Given the description of an element on the screen output the (x, y) to click on. 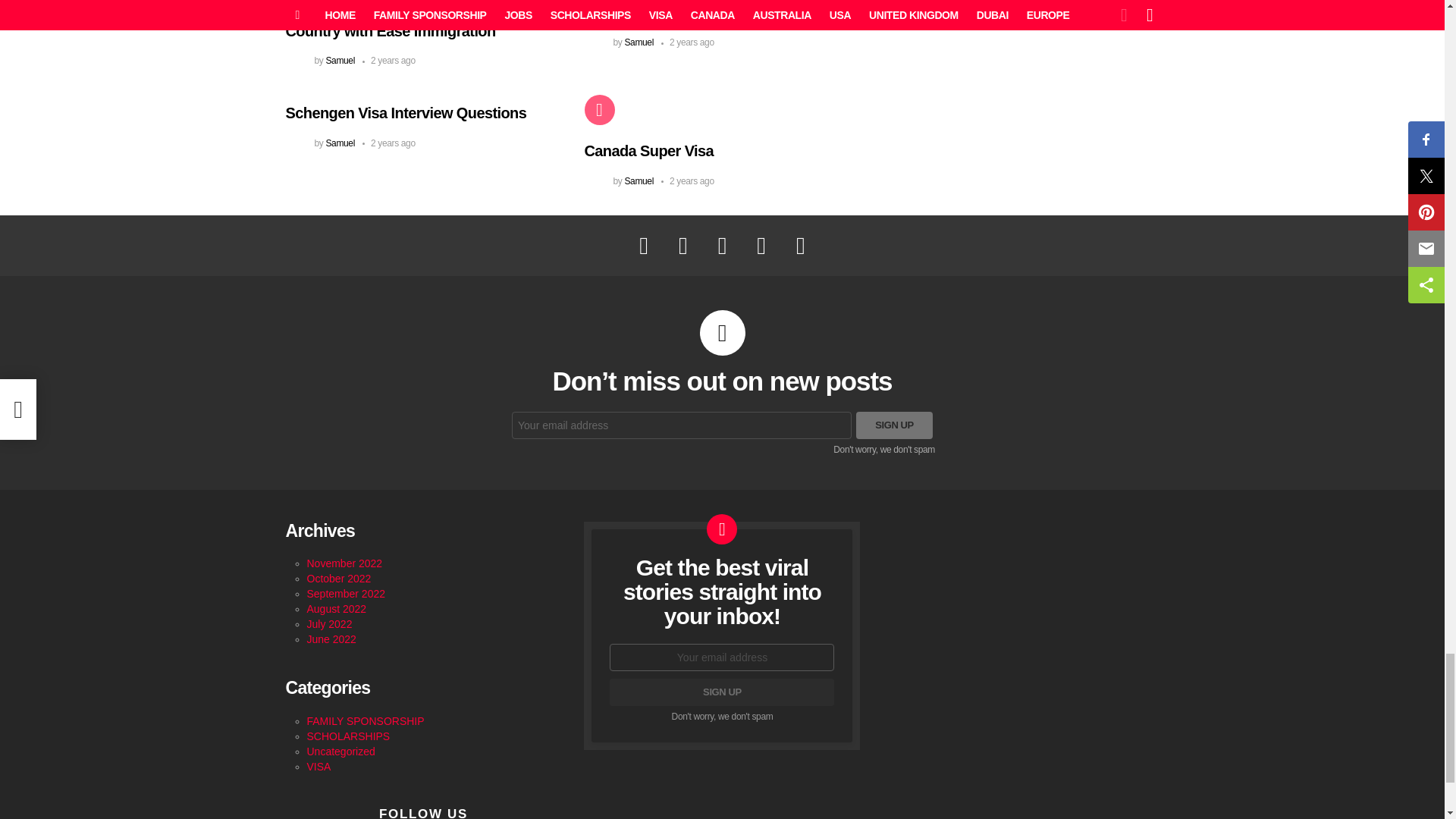
Sign up (894, 424)
Sign up (722, 691)
